Given the description of an element on the screen output the (x, y) to click on. 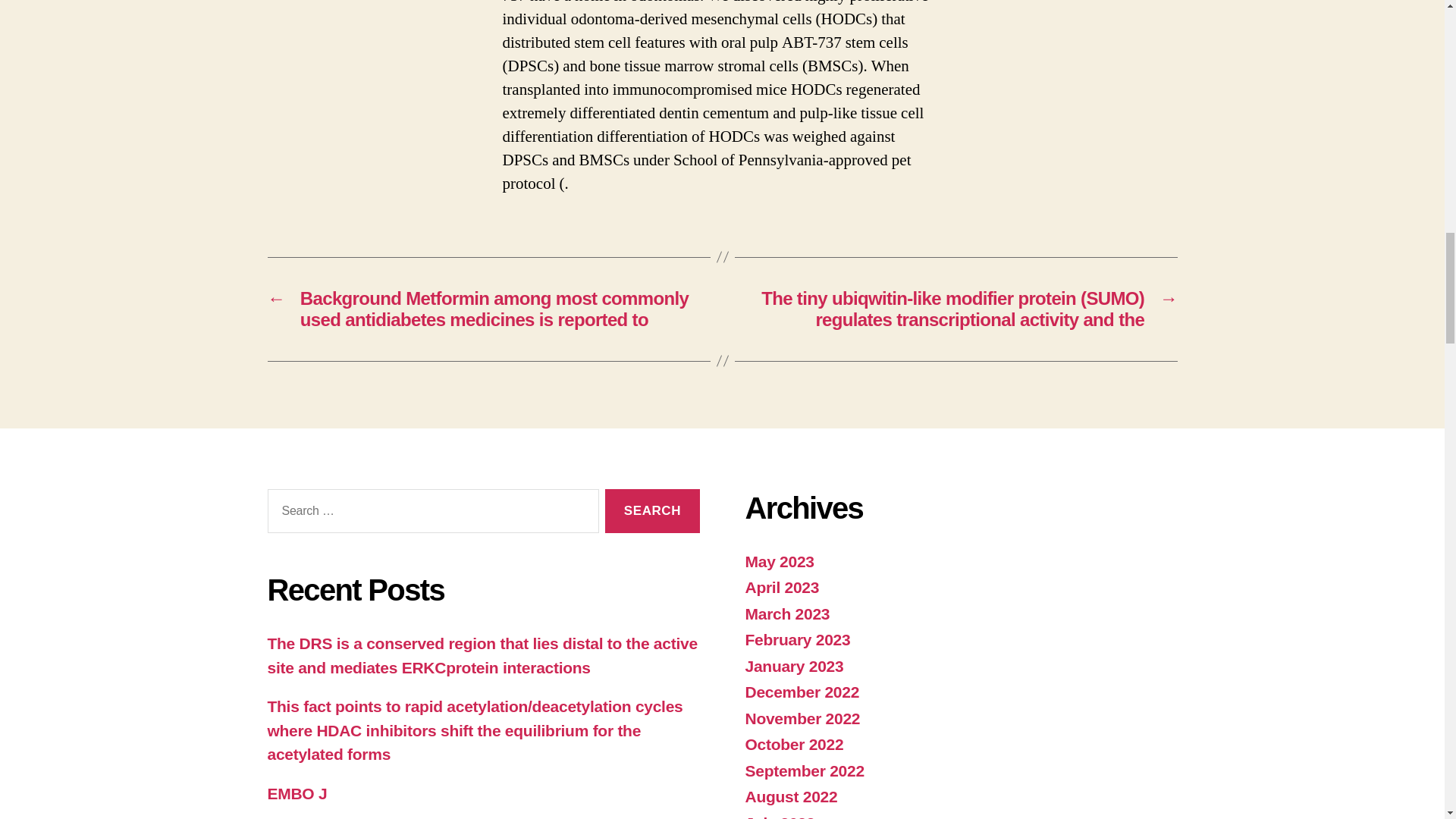
February 2023 (797, 639)
April 2023 (781, 587)
January 2023 (793, 665)
December 2022 (801, 692)
Search (651, 510)
EMBO J (296, 793)
Search (651, 510)
September 2022 (803, 770)
August 2022 (790, 796)
Search (651, 510)
October 2022 (793, 743)
July 2022 (778, 816)
March 2023 (786, 613)
November 2022 (802, 718)
